Given the description of an element on the screen output the (x, y) to click on. 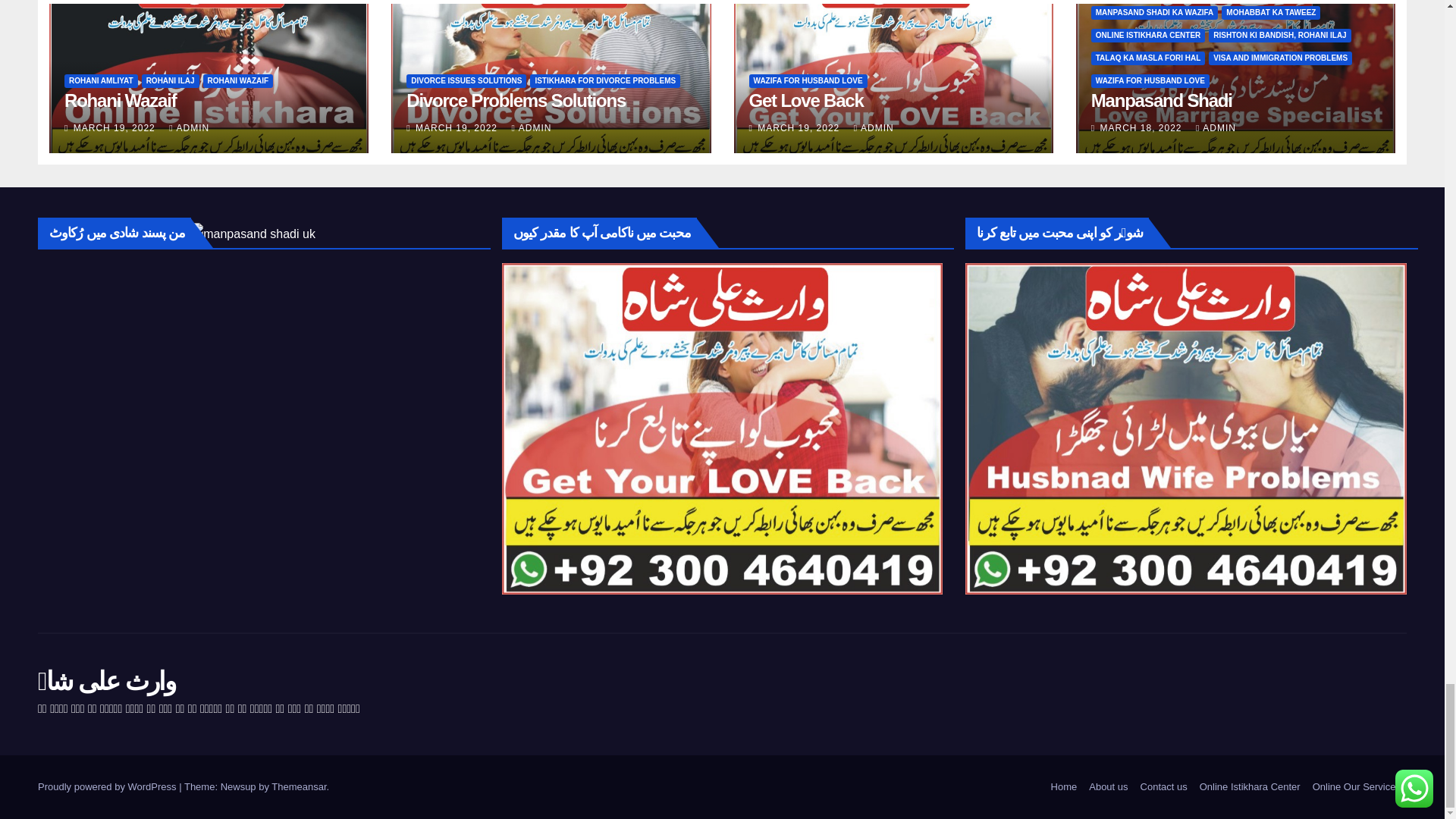
Permalink to: Get Love Back (806, 100)
Permalink to: Manpasand Shadi (1160, 100)
Permalink to: Divorce Problems Solutions (516, 100)
Home (1064, 786)
Permalink to: Rohani Wazaif (120, 100)
